Given the description of an element on the screen output the (x, y) to click on. 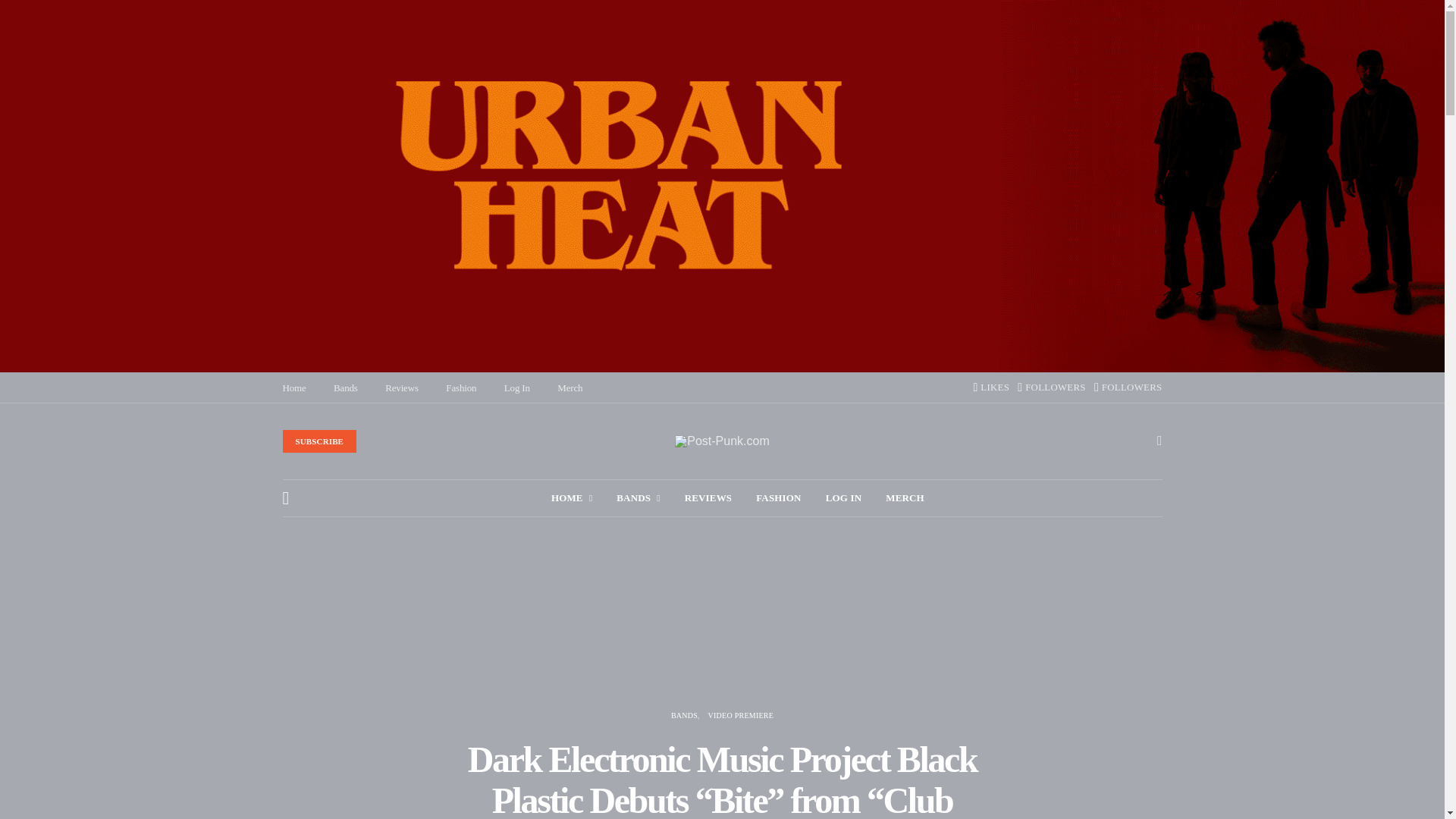
Merch (569, 387)
Home (293, 387)
HOME (571, 497)
Reviews (402, 387)
REVIEWS (708, 497)
Bands (345, 387)
Fashion (460, 387)
Log In (516, 387)
FOLLOWERS (1051, 387)
LIKES (990, 387)
